Given the description of an element on the screen output the (x, y) to click on. 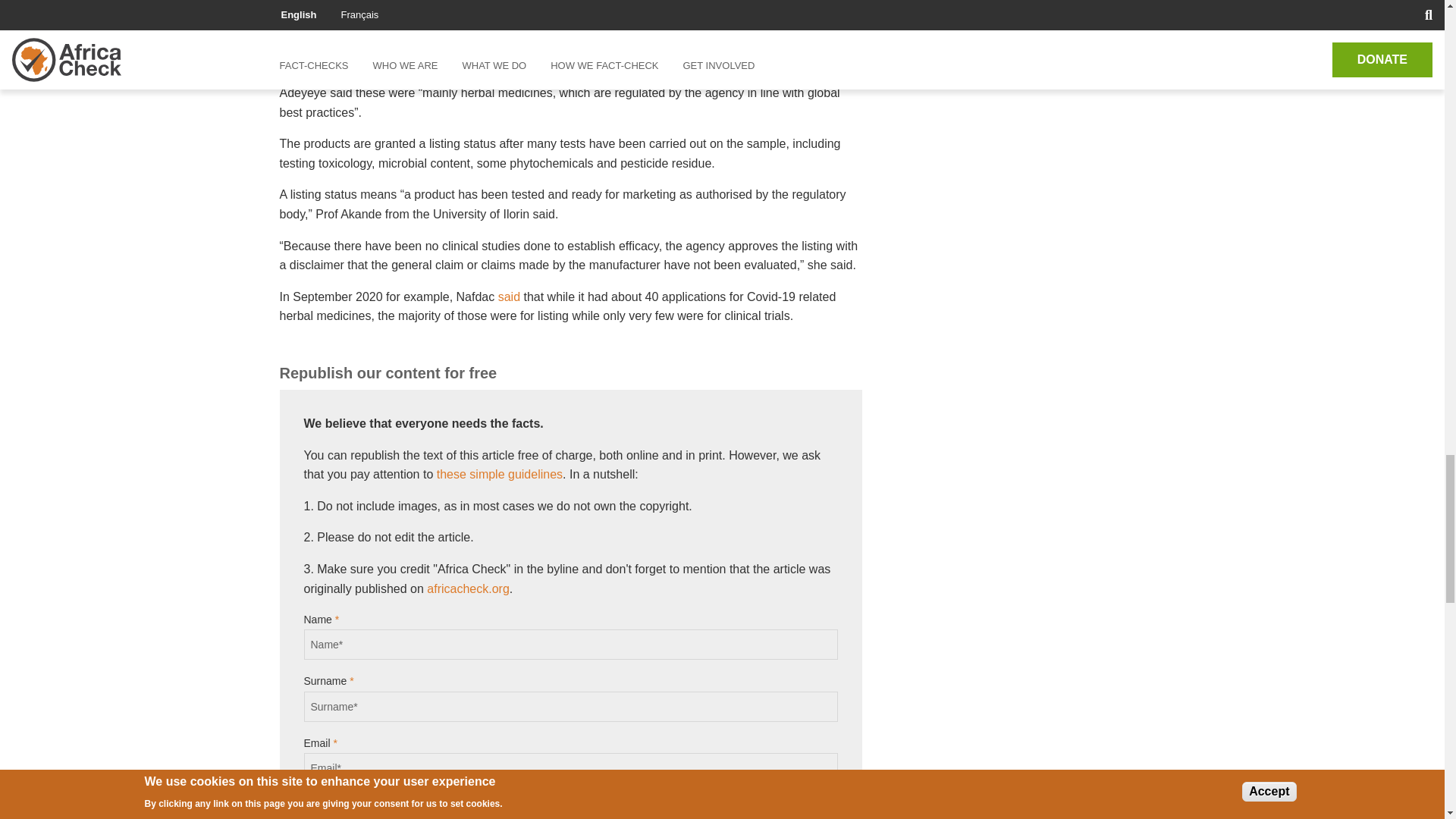
Get Code (348, 807)
